Given the description of an element on the screen output the (x, y) to click on. 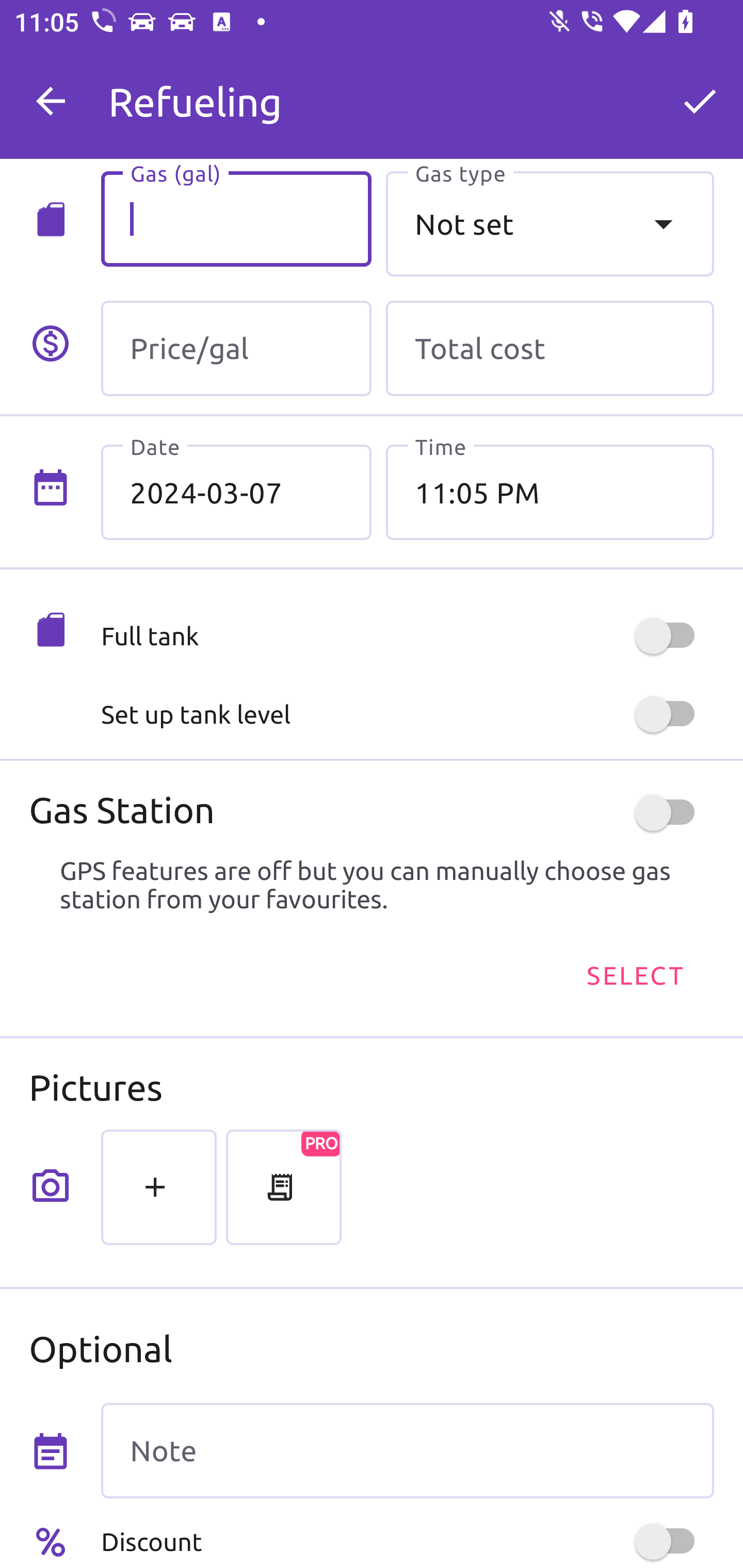
M My Car 0 km (407, 92)
Navigate up (50, 101)
OK (699, 101)
Gas (gal) (236, 218)
Not set (549, 222)
Price/gal (236, 348)
Total cost  (549, 348)
2024-03-07 (236, 492)
11:05 PM (549, 492)
Full tank (407, 635)
Set up tank level (407, 713)
SELECT (634, 974)
Note (407, 1451)
Discount (407, 1541)
